Given the description of an element on the screen output the (x, y) to click on. 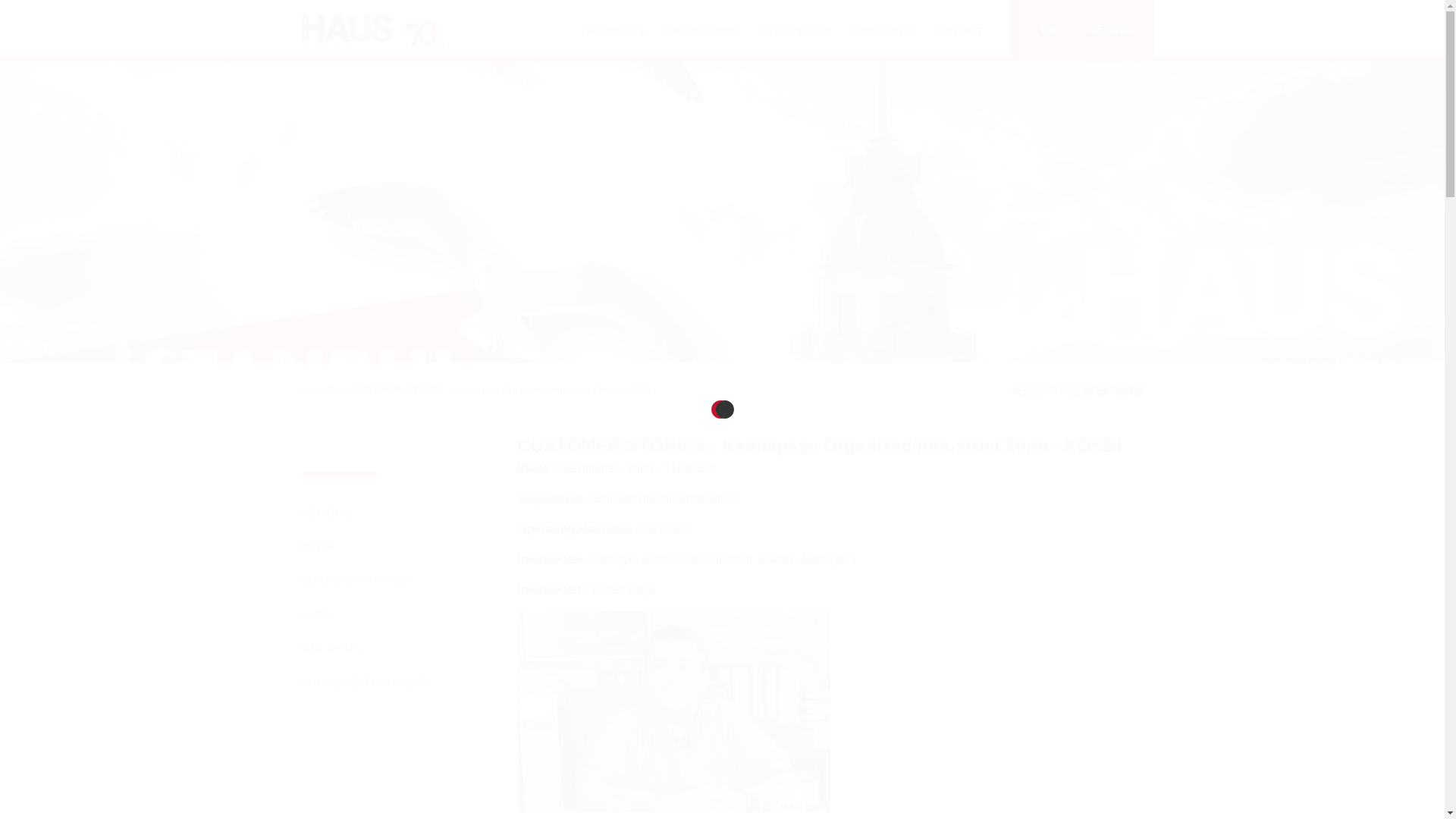
HAUS Centrifuge Technologies (424, 32)
HAUS Centrifuge Technologies (348, 32)
